Given the description of an element on the screen output the (x, y) to click on. 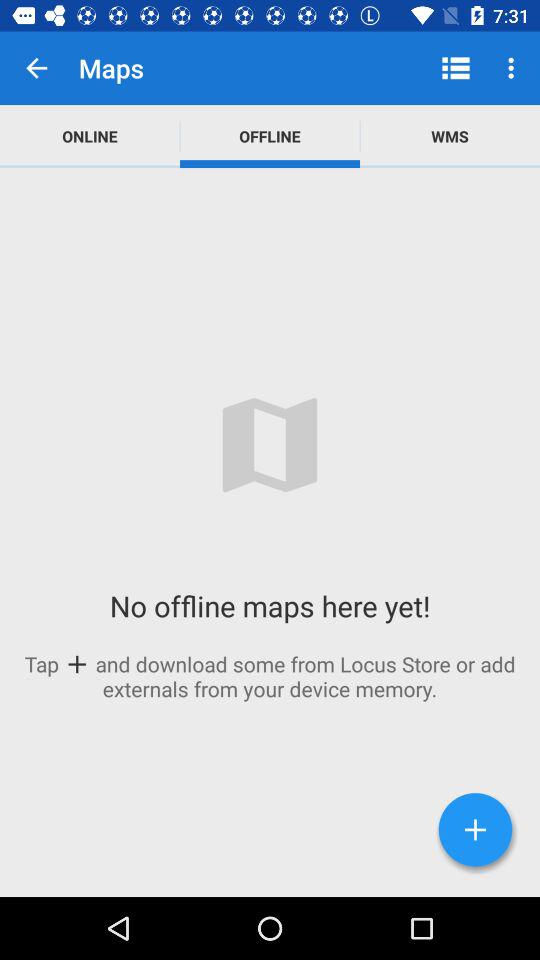
tap the app to the right of the offline app (450, 136)
